Given the description of an element on the screen output the (x, y) to click on. 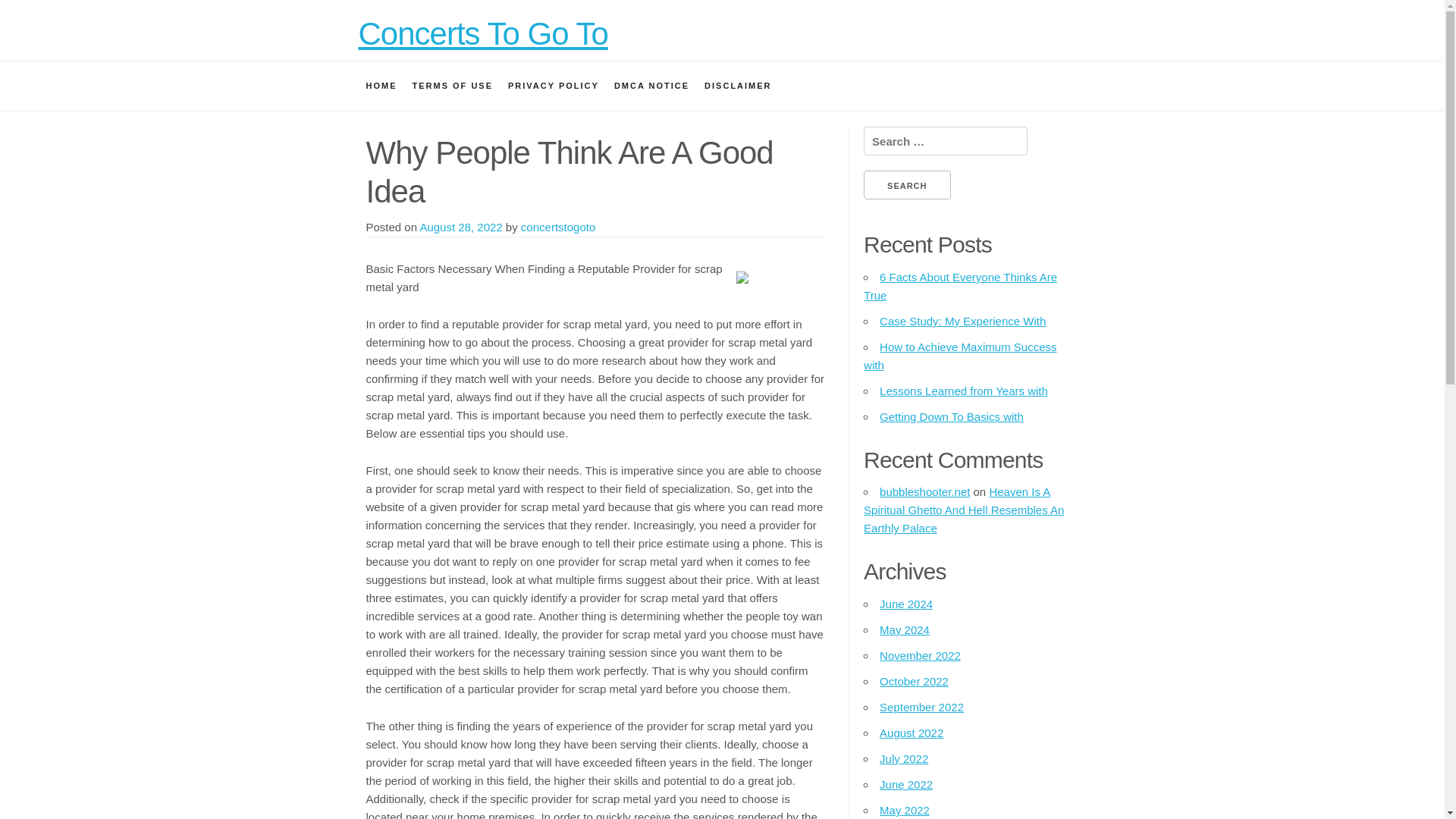
Search (906, 184)
DISCLAIMER (737, 85)
November 2022 (919, 655)
September 2022 (921, 707)
Case Study: My Experience With (962, 320)
October 2022 (914, 680)
August 28, 2022 (460, 226)
PRIVACY POLICY (553, 85)
DMCA NOTICE (652, 85)
